Given the description of an element on the screen output the (x, y) to click on. 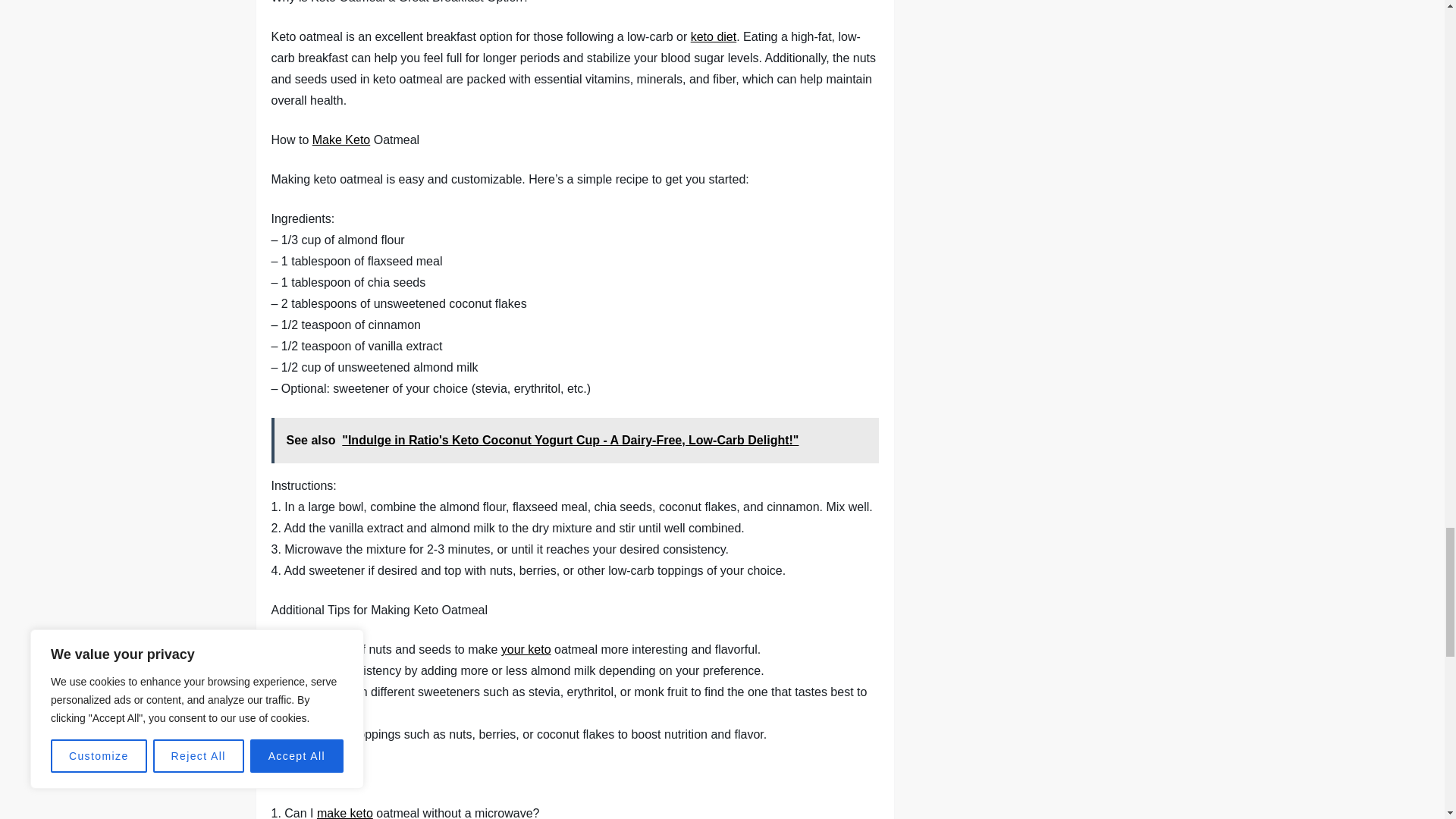
your keto (525, 649)
keto diet (713, 36)
keto diet (713, 36)
make keto (344, 812)
Make Keto (341, 139)
your keto (525, 649)
make keto (344, 812)
Make Keto (341, 139)
